Given the description of an element on the screen output the (x, y) to click on. 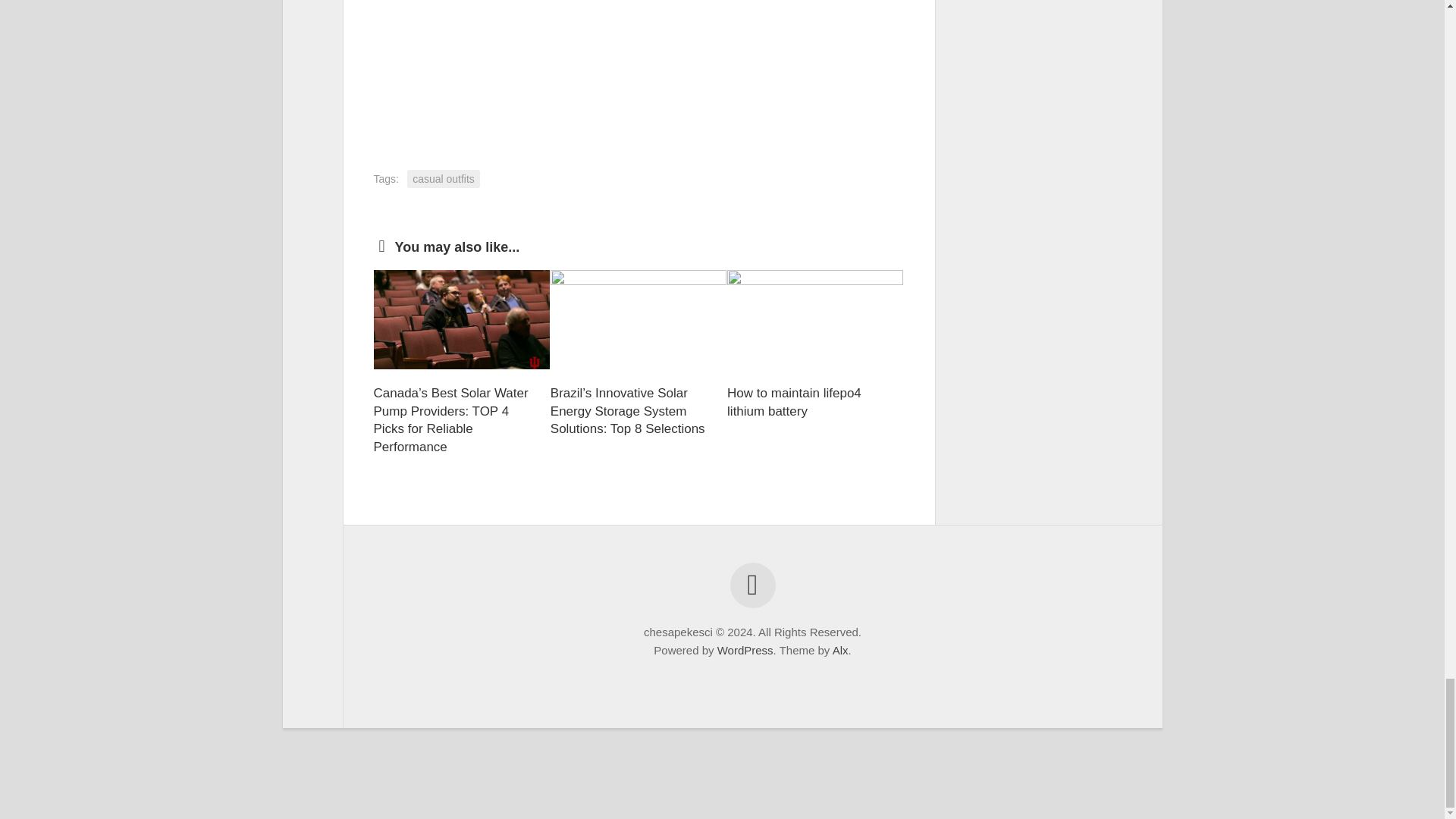
How to maintain lifepo4 lithium battery (793, 401)
WordPress (745, 649)
Alx (840, 649)
casual outfits (443, 179)
